Given the description of an element on the screen output the (x, y) to click on. 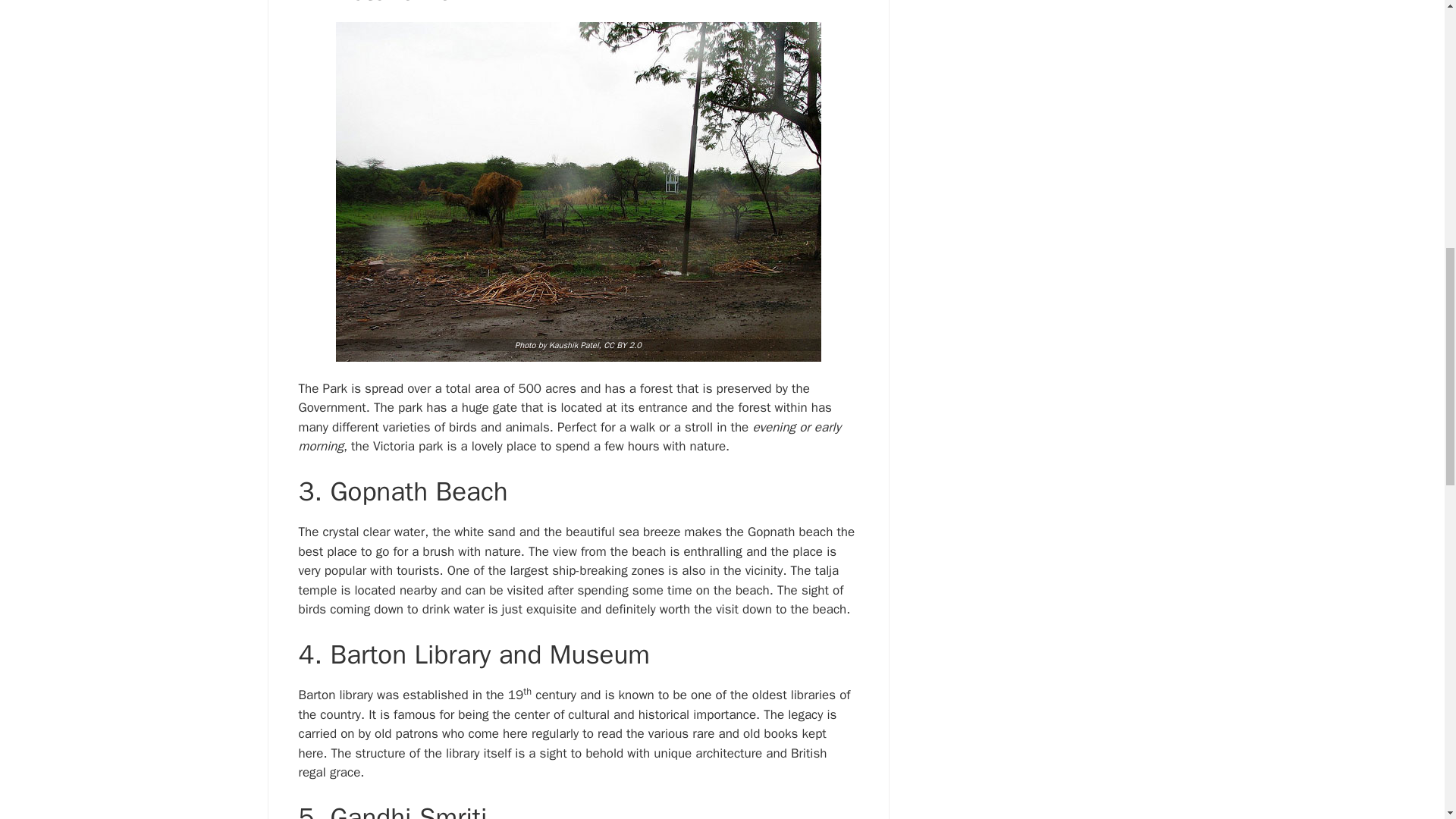
Scroll back to top (1406, 720)
